Given the description of an element on the screen output the (x, y) to click on. 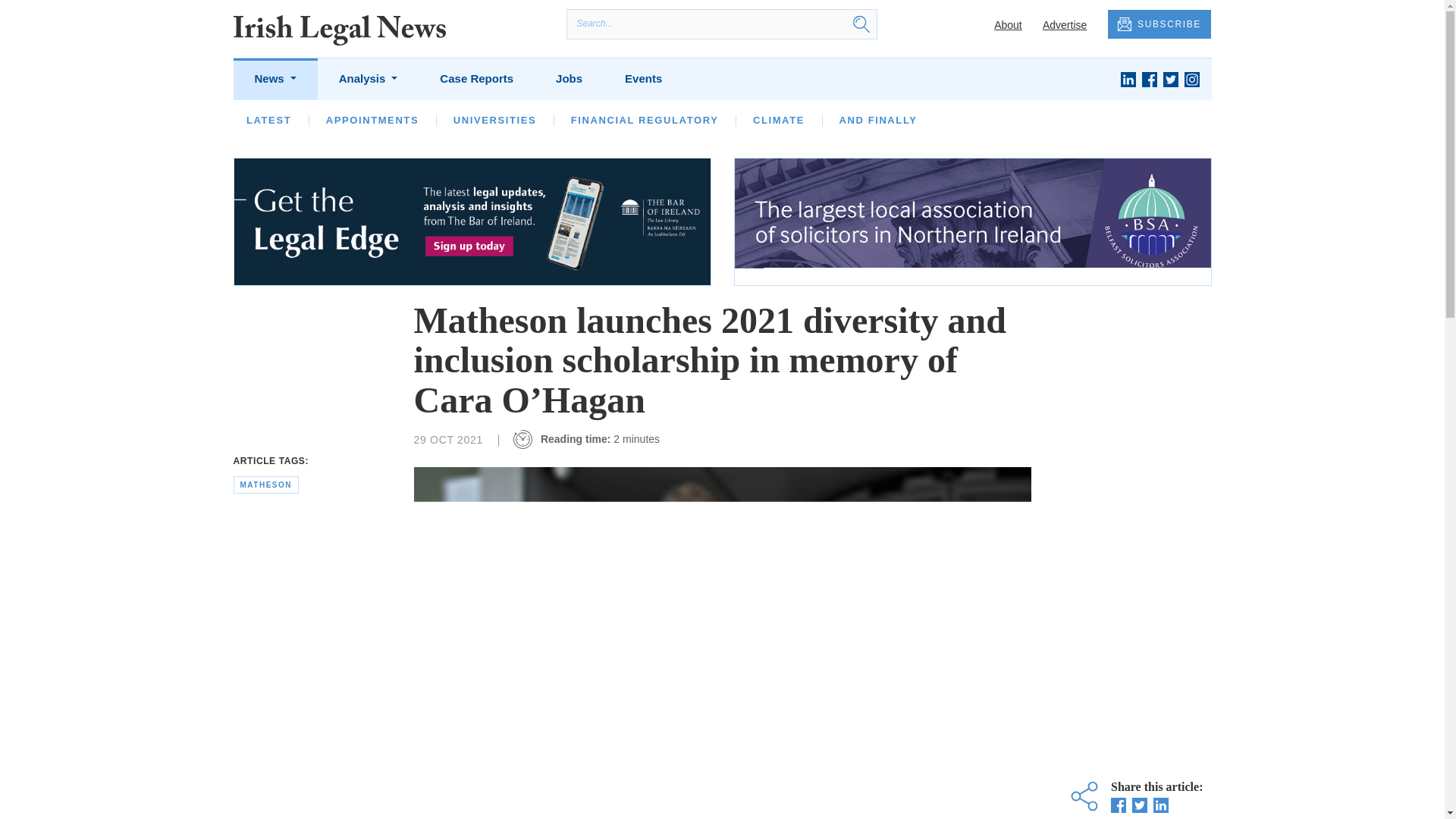
Events (643, 78)
FINANCIAL REGULATORY (644, 120)
INTERVIEWS (446, 120)
UNIVERSITIES (494, 120)
AND FINALLY (877, 120)
APPOINTMENTS (372, 120)
Advertise (1064, 24)
OUR LEGAL HERITAGE (673, 120)
Jobs (569, 78)
CLIMATE (778, 120)
